Given the description of an element on the screen output the (x, y) to click on. 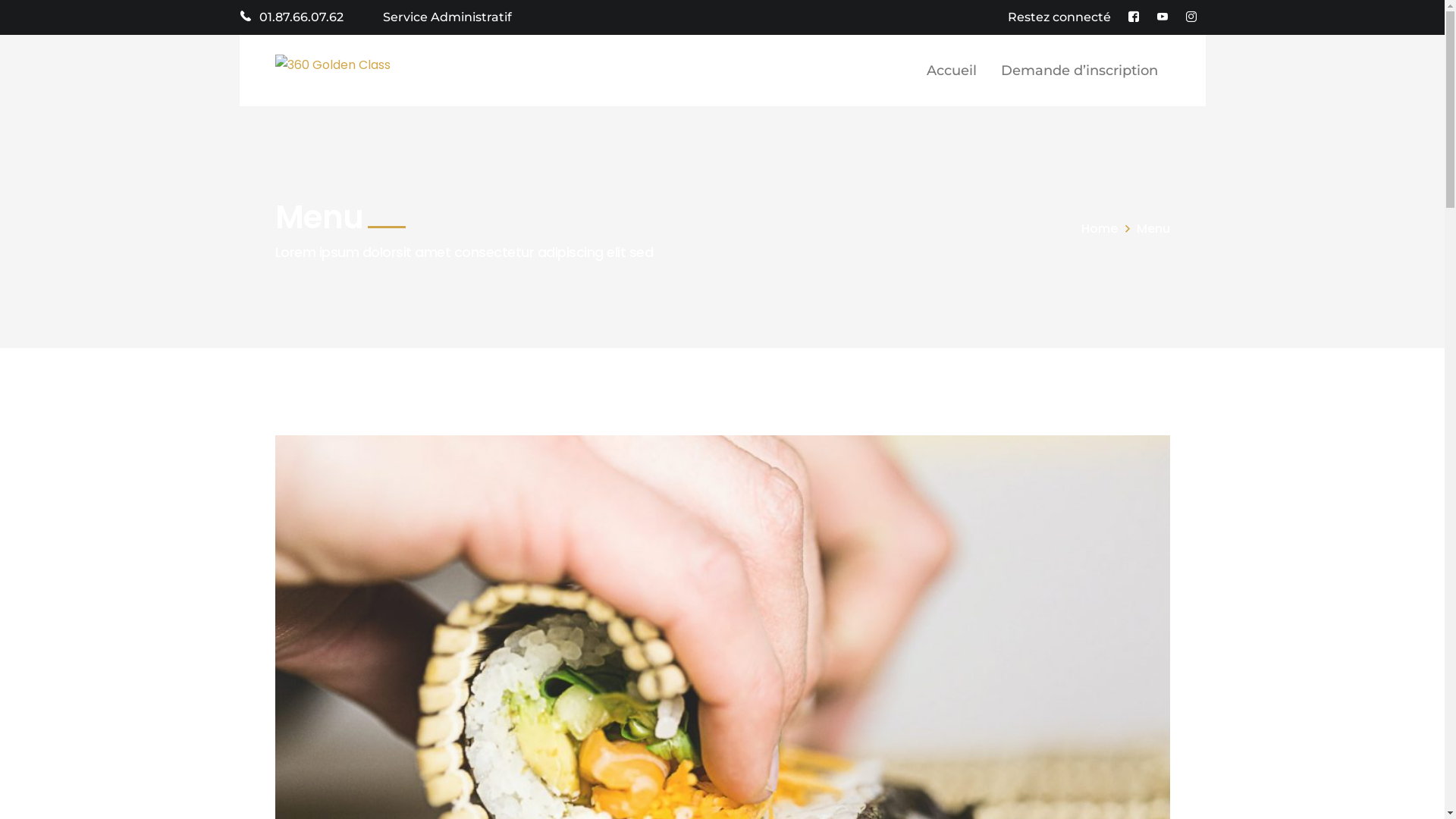
Accueil Element type: text (951, 70)
Instagram Profile Element type: text (1190, 17)
360 Golden Class Element type: hover (331, 63)
Facebook Profile Element type: text (1133, 17)
Home Element type: text (1108, 228)
Youtube Profile Element type: text (1162, 17)
